Given the description of an element on the screen output the (x, y) to click on. 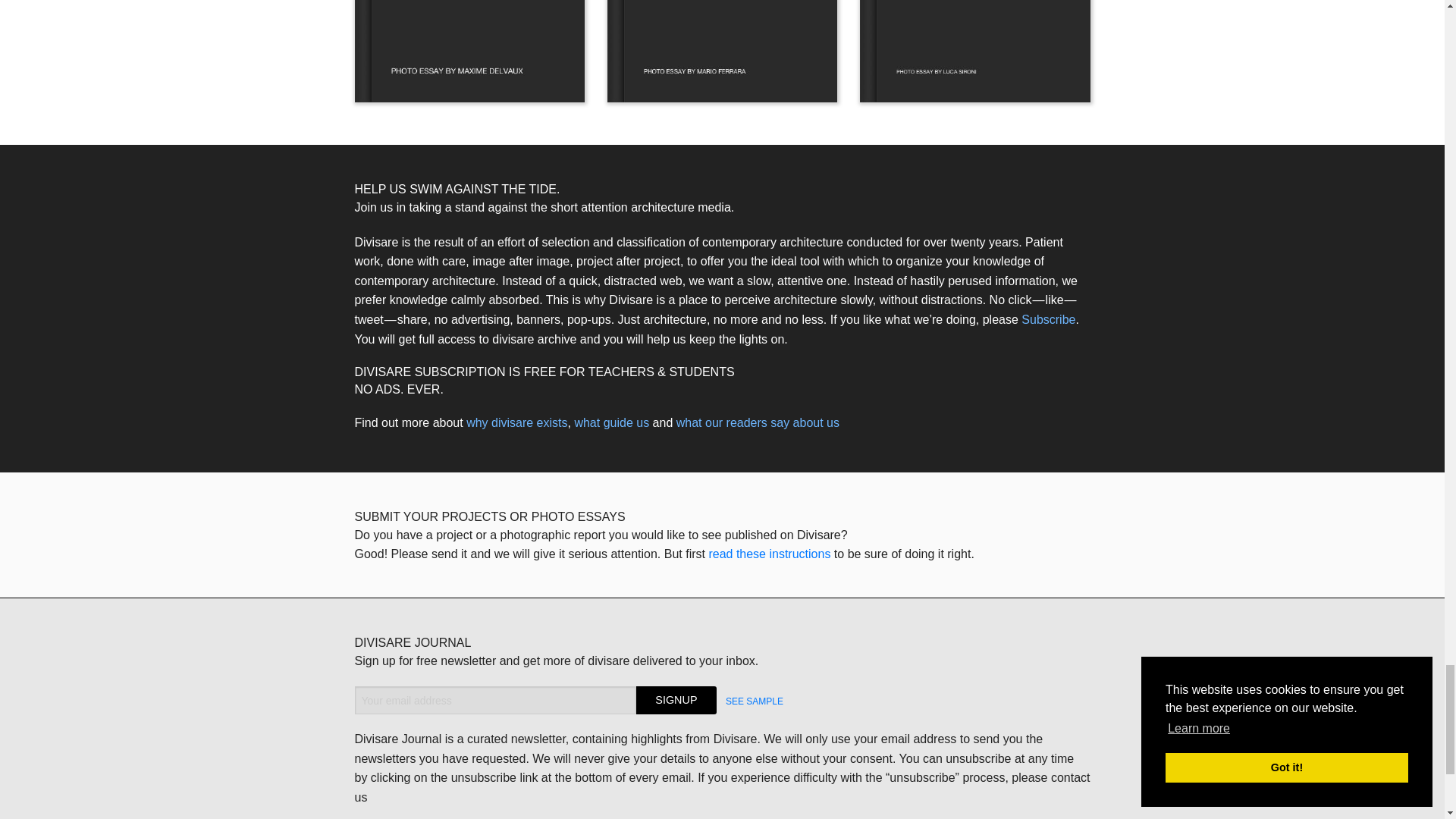
Signup (676, 700)
2001. FANY. DUDELANGE PHOTO ESSAY BY MAXIME DELVAUX (470, 51)
